Given the description of an element on the screen output the (x, y) to click on. 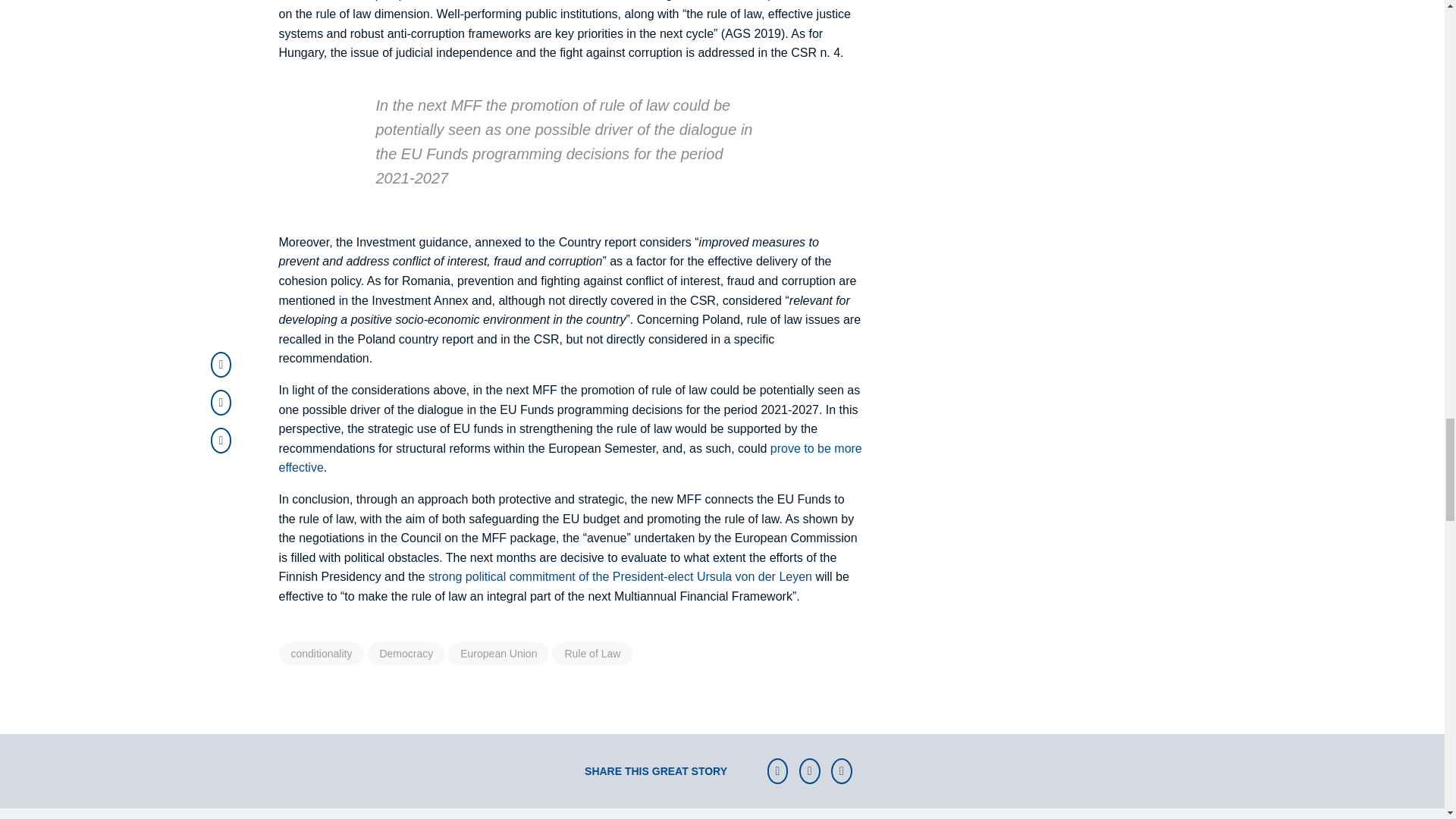
conditionality (322, 653)
